Given the description of an element on the screen output the (x, y) to click on. 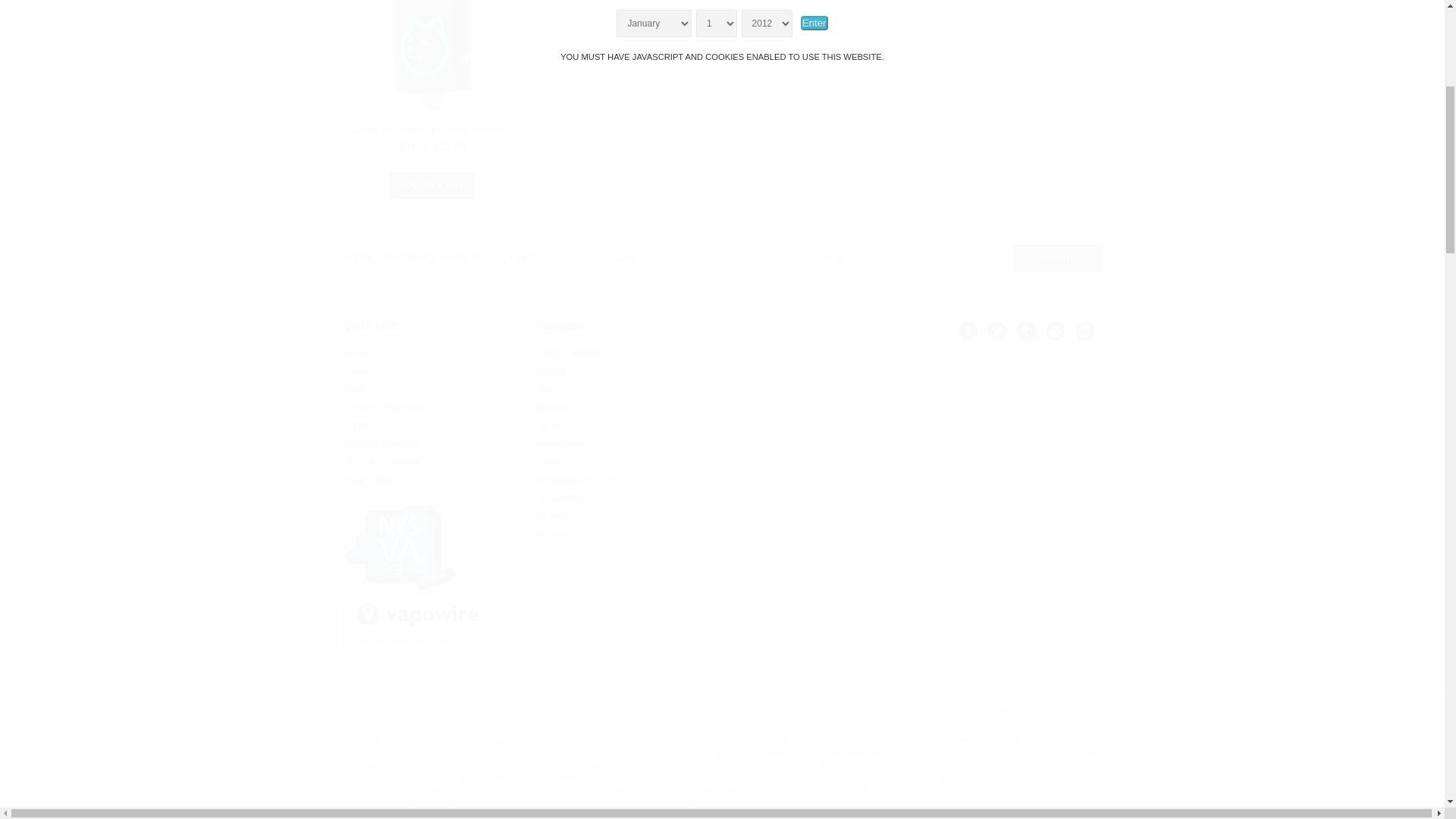
Twitter (996, 330)
Submit (1056, 257)
Instagram (1084, 330)
US Dollar (411, 709)
Facebook (967, 330)
Email (901, 257)
Tumblr (1025, 330)
Add To Cart (432, 185)
Enter (814, 22)
YouTube (1054, 330)
Name (695, 257)
